Given the description of an element on the screen output the (x, y) to click on. 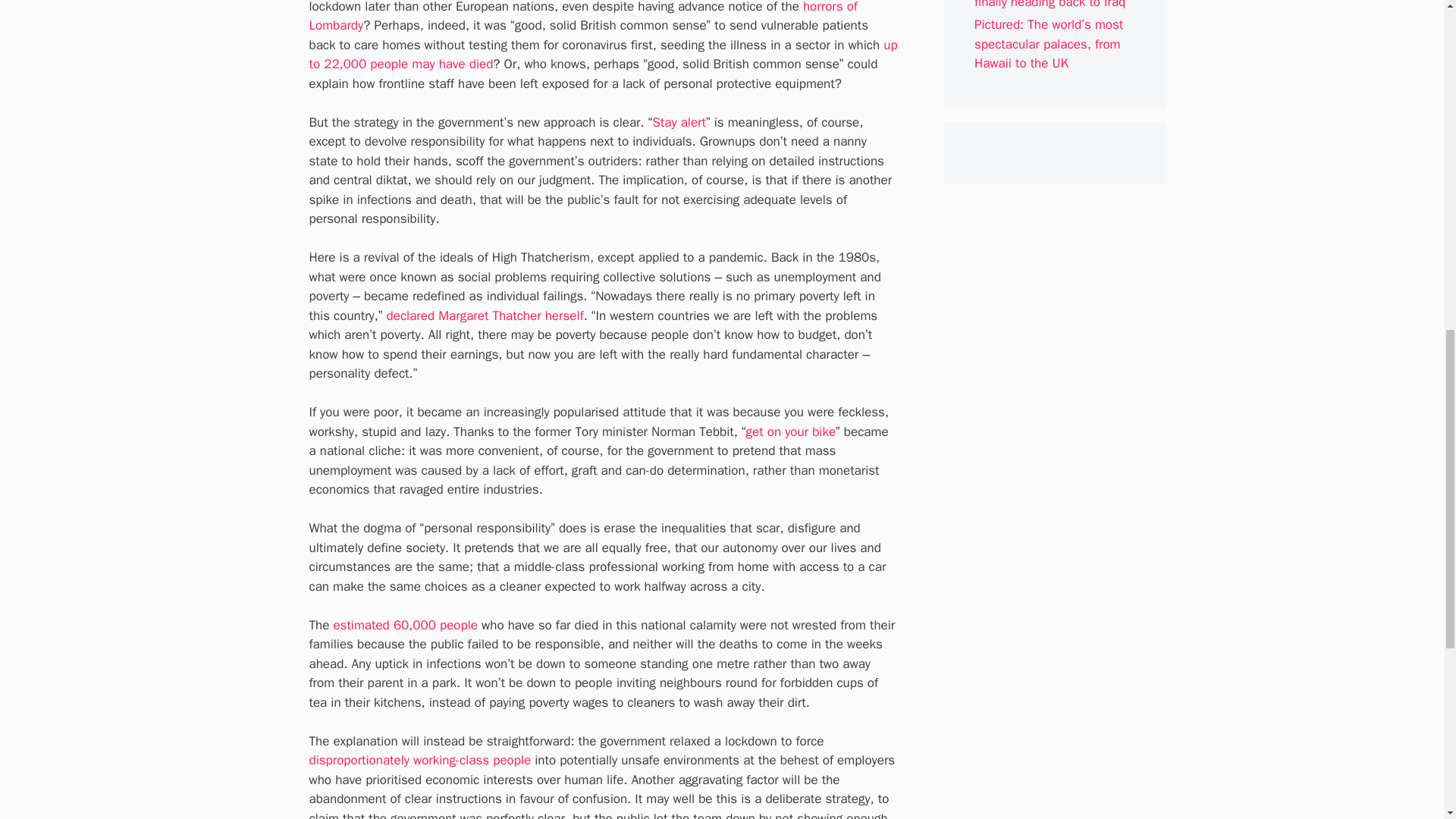
estimated 60,000 people (405, 625)
horrors of Lombardy (582, 17)
get on your bike (790, 431)
declared Margaret Thatcher herself (485, 315)
disproportionately working-class people (419, 760)
may have died (452, 64)
Stay alert (679, 122)
up to 22,000 people (603, 54)
